Given the description of an element on the screen output the (x, y) to click on. 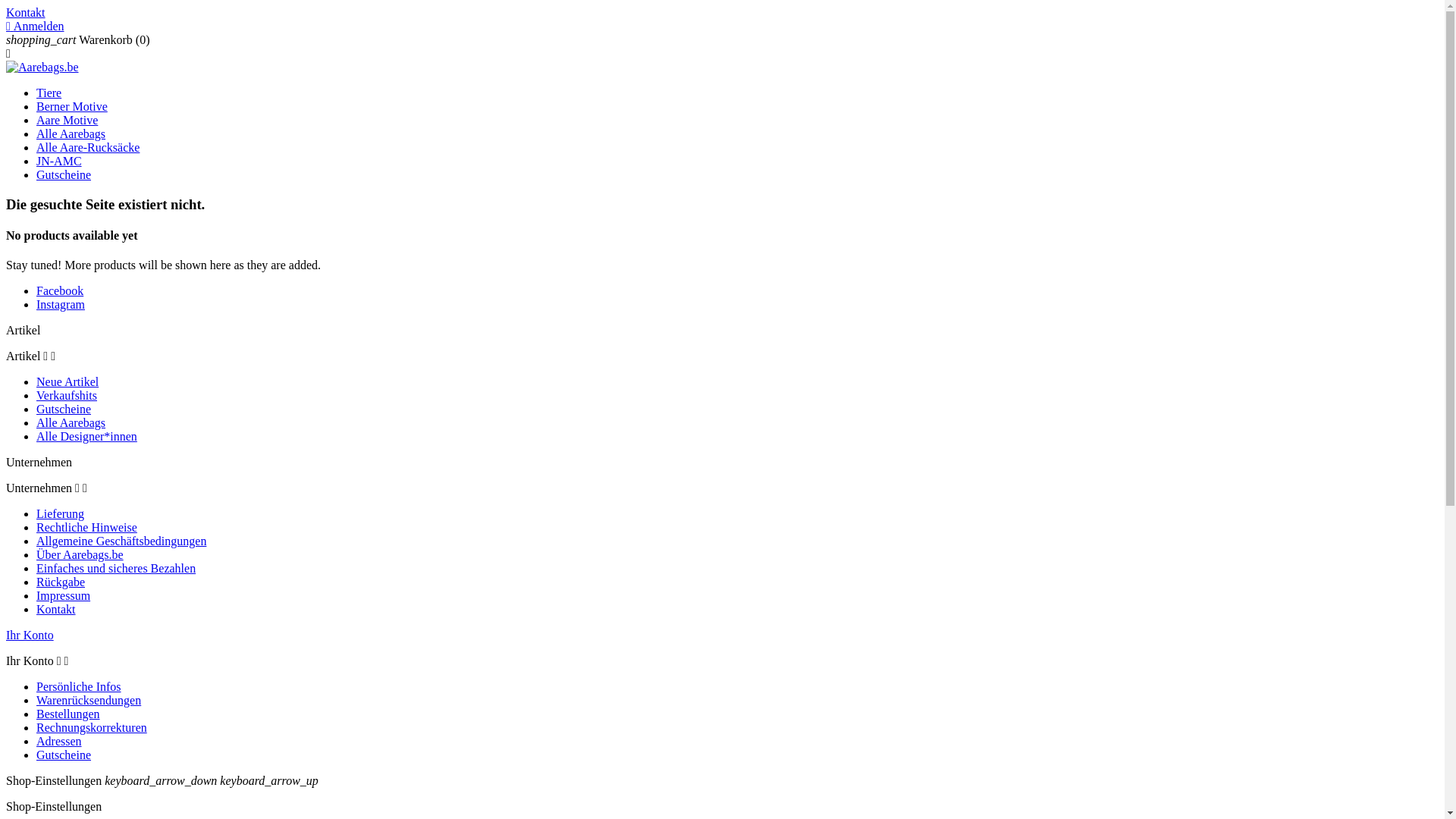
Berner Motive Element type: text (71, 106)
Gutscheine Element type: text (63, 754)
Bestellungen Element type: text (68, 713)
Ihr Konto Element type: text (29, 634)
Rechnungskorrekturen Element type: text (91, 727)
Instagram Element type: text (60, 304)
Alle Aarebags Element type: text (70, 422)
Neue Artikel Element type: text (67, 381)
Gutscheine Element type: text (63, 408)
Rechtliche Hinweise Element type: text (86, 526)
Einfaches und sicheres Bezahlen Element type: text (115, 567)
Lieferung Element type: text (60, 513)
Alle Aarebags Element type: text (70, 133)
Verkaufshits Element type: text (66, 395)
Gutscheine Element type: text (63, 174)
Alle Designer*innen Element type: text (86, 435)
Tiere Element type: text (48, 92)
Adressen Element type: text (58, 740)
Impressum Element type: text (63, 595)
Aare Motive Element type: text (66, 119)
Facebook Element type: text (59, 290)
Kontakt Element type: text (25, 12)
Kontakt Element type: text (55, 608)
JN-AMC Element type: text (58, 160)
